Given the description of an element on the screen output the (x, y) to click on. 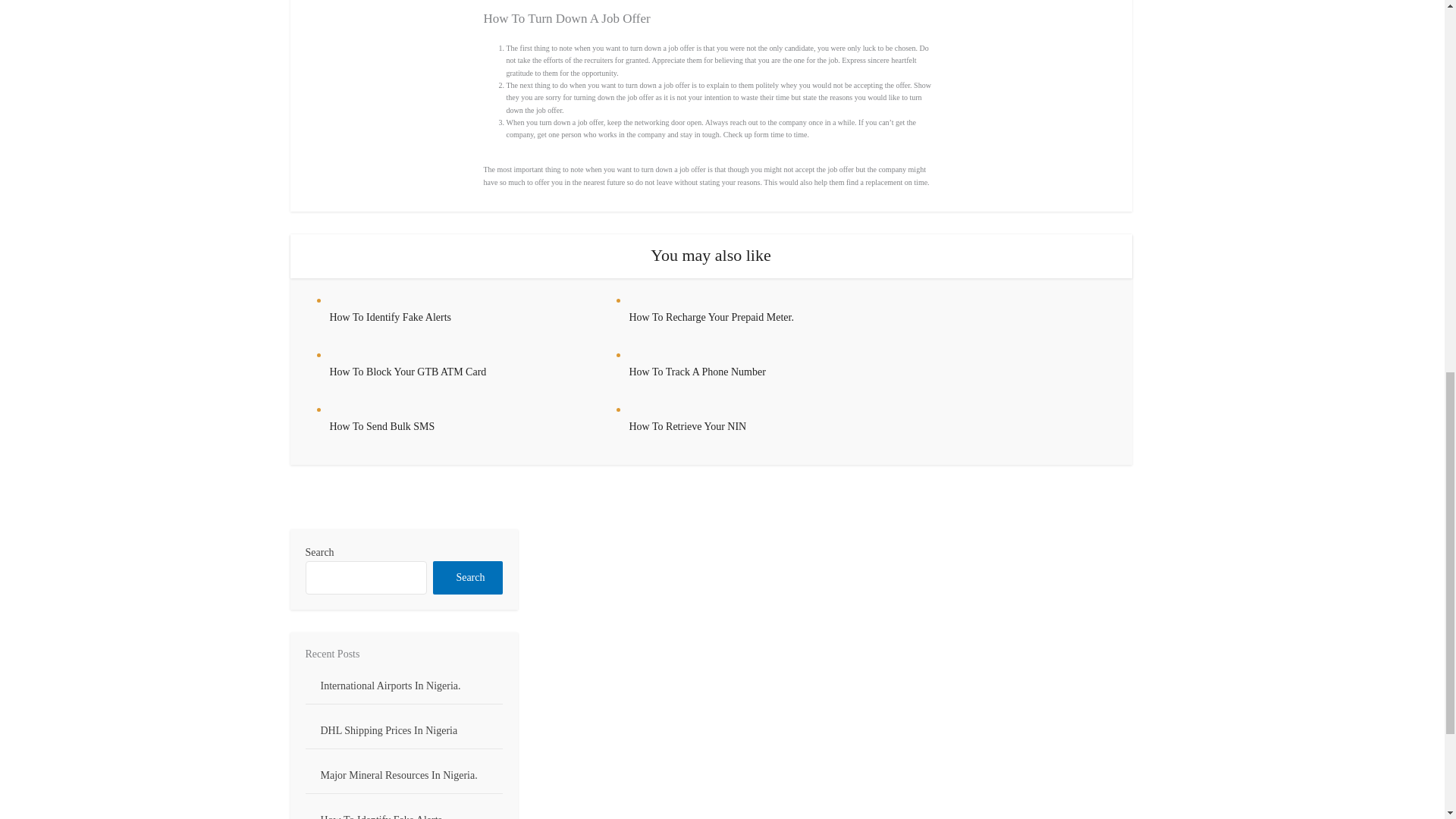
How To Identify Fake Alerts (390, 317)
How To Recharge Your Prepaid Meter. (710, 317)
International Airports In Nigeria. (390, 685)
How To Identify Fake Alerts (390, 317)
How To Track A Phone Number (696, 371)
Major Mineral Resources In Nigeria. (398, 775)
How To Block Your GTB ATM Card (407, 371)
How To Send Bulk SMS (381, 426)
How To Recharge Your Prepaid Meter. (710, 317)
How To Block Your GTB ATM Card (407, 371)
How To Track A Phone Number (696, 371)
How To Retrieve Your NIN (687, 426)
DHL Shipping Prices In Nigeria (388, 730)
How To Send Bulk SMS (381, 426)
How To Retrieve Your NIN (687, 426)
